Given the description of an element on the screen output the (x, y) to click on. 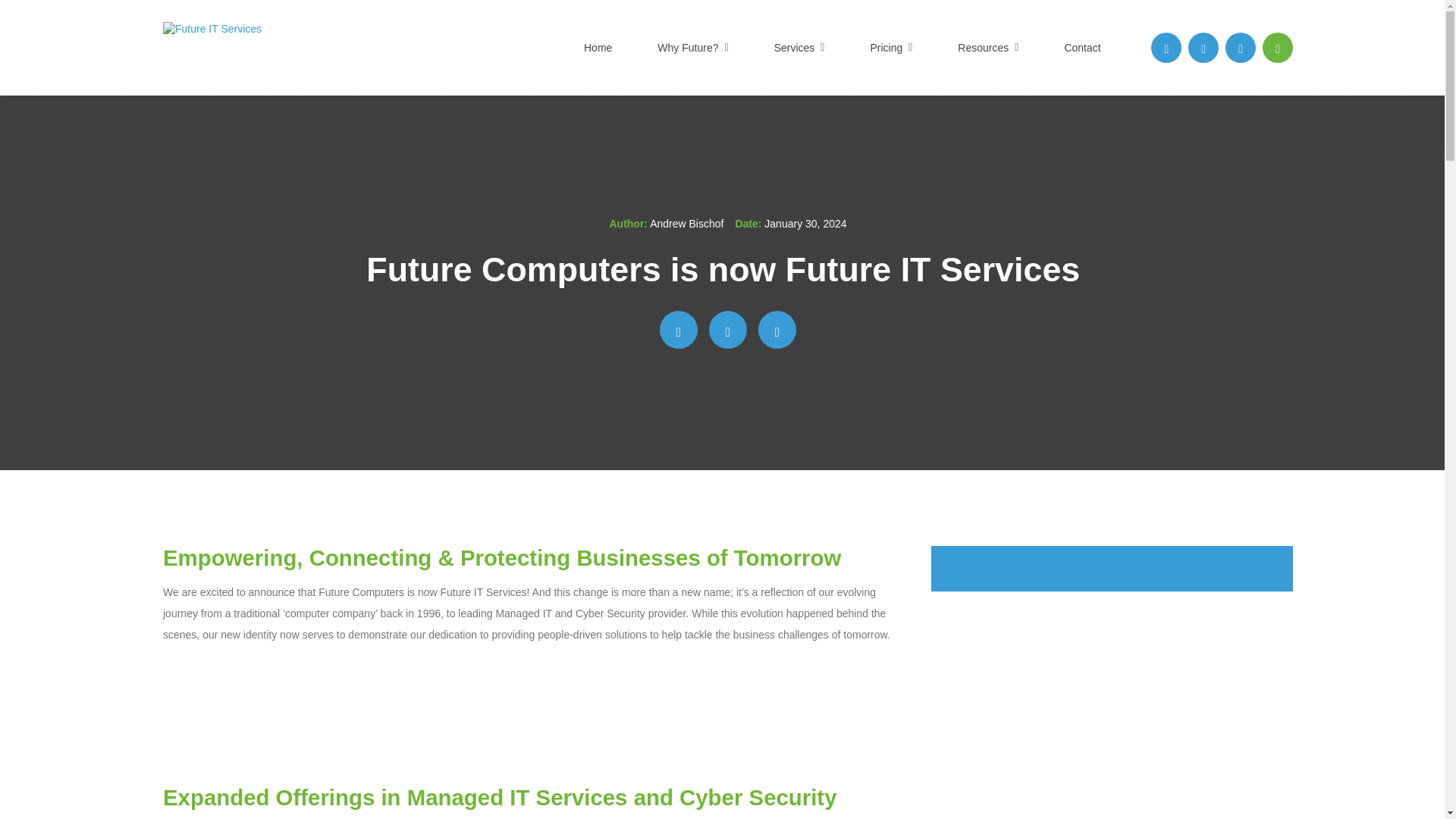
Services (799, 47)
Share On Twitter (727, 329)
Why Future? (692, 47)
Share On Facebook (678, 329)
Future IT Services Telephone (1277, 47)
Future IT Services Facebook (1165, 47)
Future IT Services (288, 47)
Future IT Services Email (1240, 47)
Share On LinkedIn (777, 329)
Future IT Services LinkedIn (1203, 47)
